Given the description of an element on the screen output the (x, y) to click on. 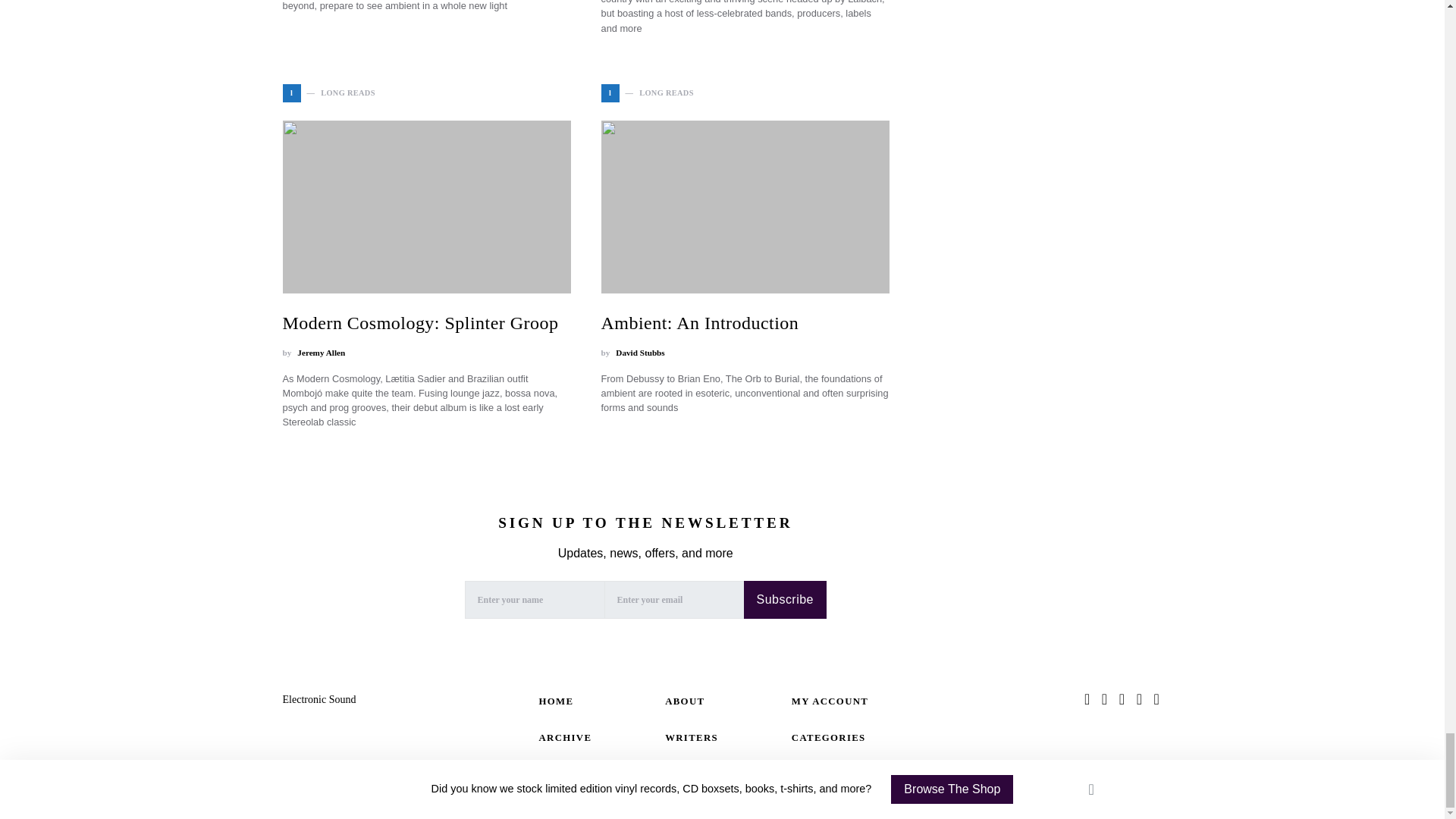
View all posts by Jeremy Allen (321, 352)
View all posts by David Stubbs (639, 352)
